Given the description of an element on the screen output the (x, y) to click on. 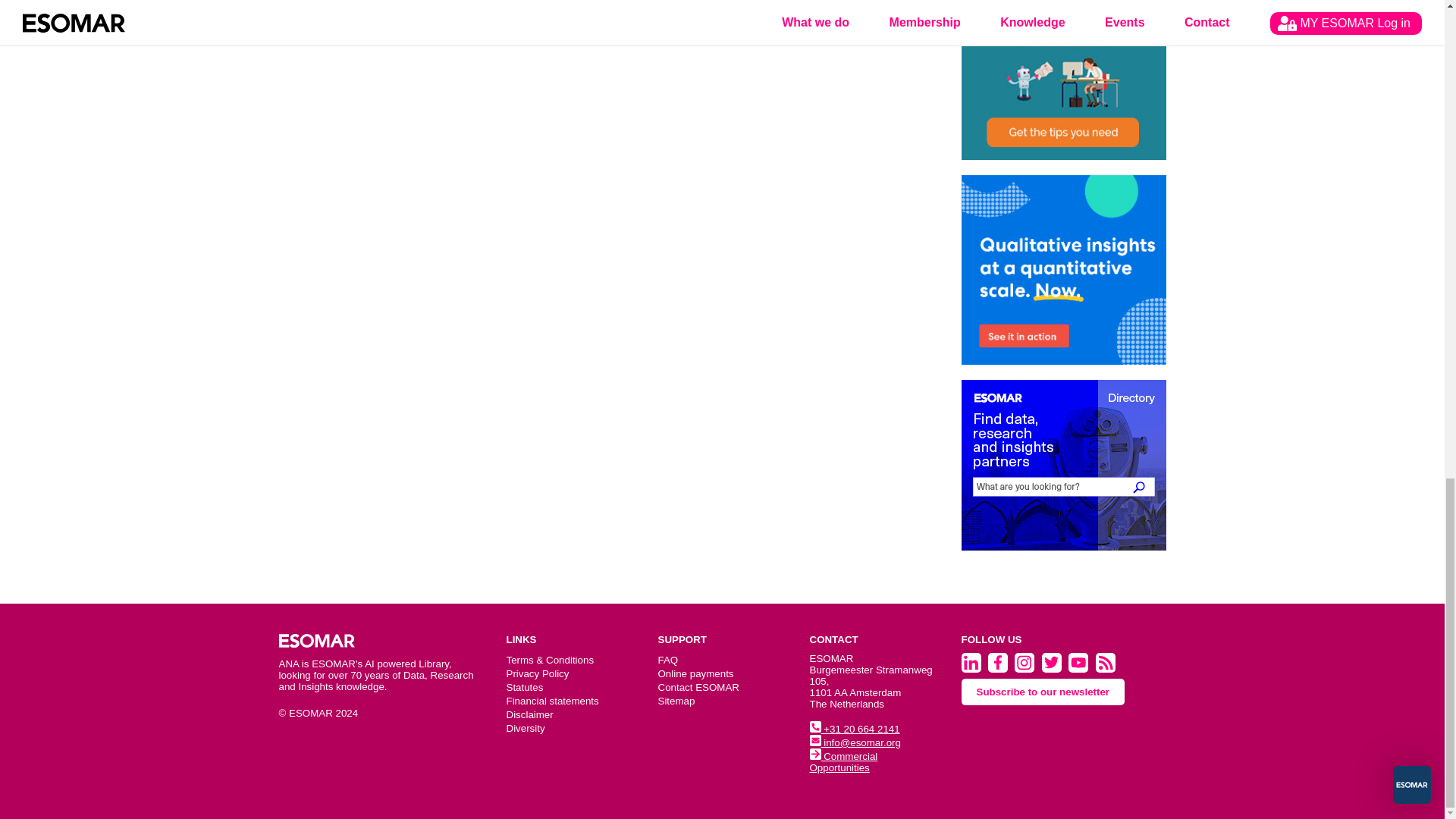
Esomar - Directory (1063, 465)
Remesh (1063, 269)
SKIM Subscription (1063, 79)
